Given the description of an element on the screen output the (x, y) to click on. 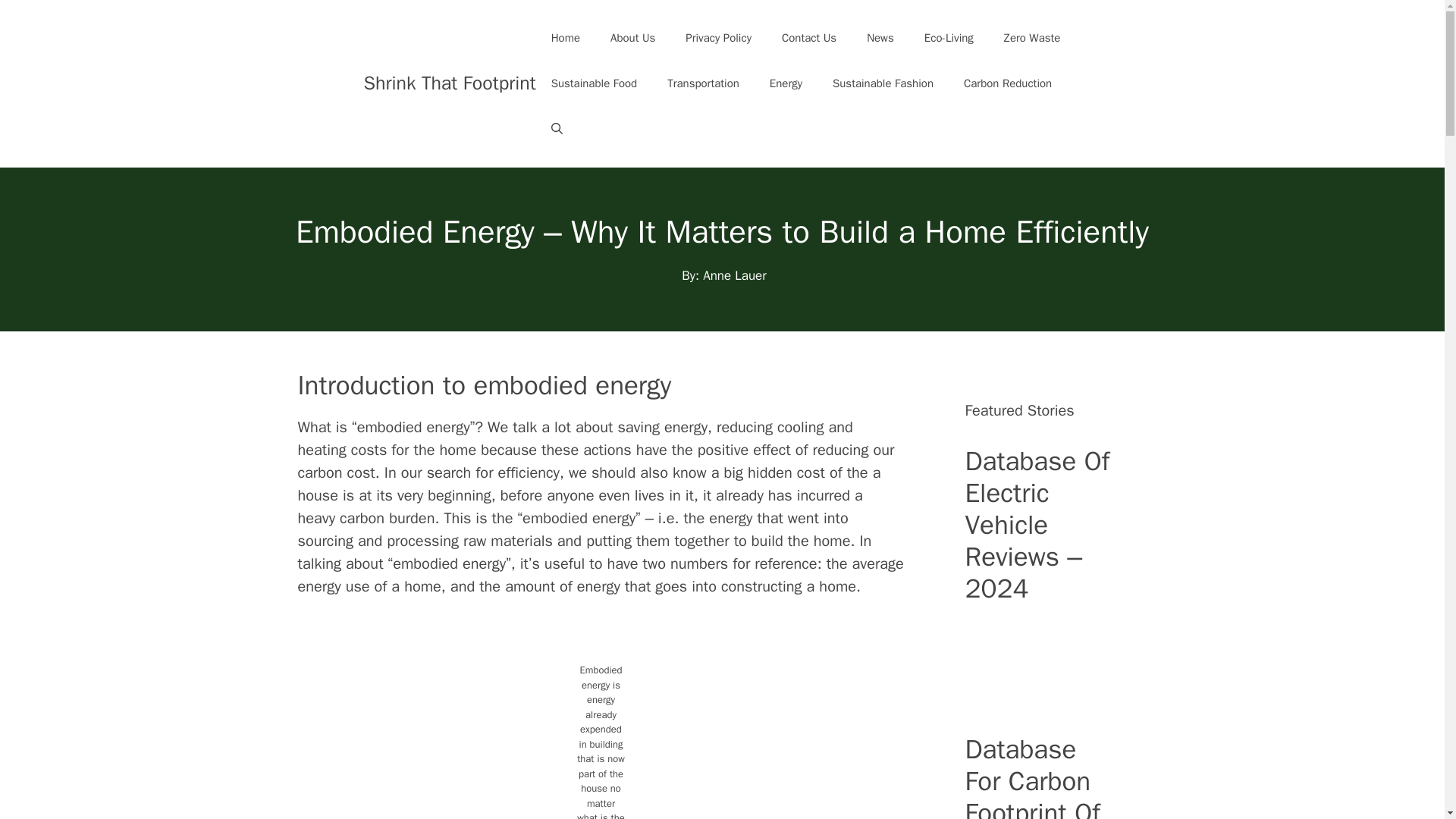
Zero Waste (1031, 37)
Carbon Reduction (1008, 83)
Transportation (703, 83)
Home (565, 37)
Contact Us (809, 37)
Sustainable Fashion (882, 83)
Sustainable Food (593, 83)
About Us (632, 37)
News (879, 37)
Eco-Living (948, 37)
